Given the description of an element on the screen output the (x, y) to click on. 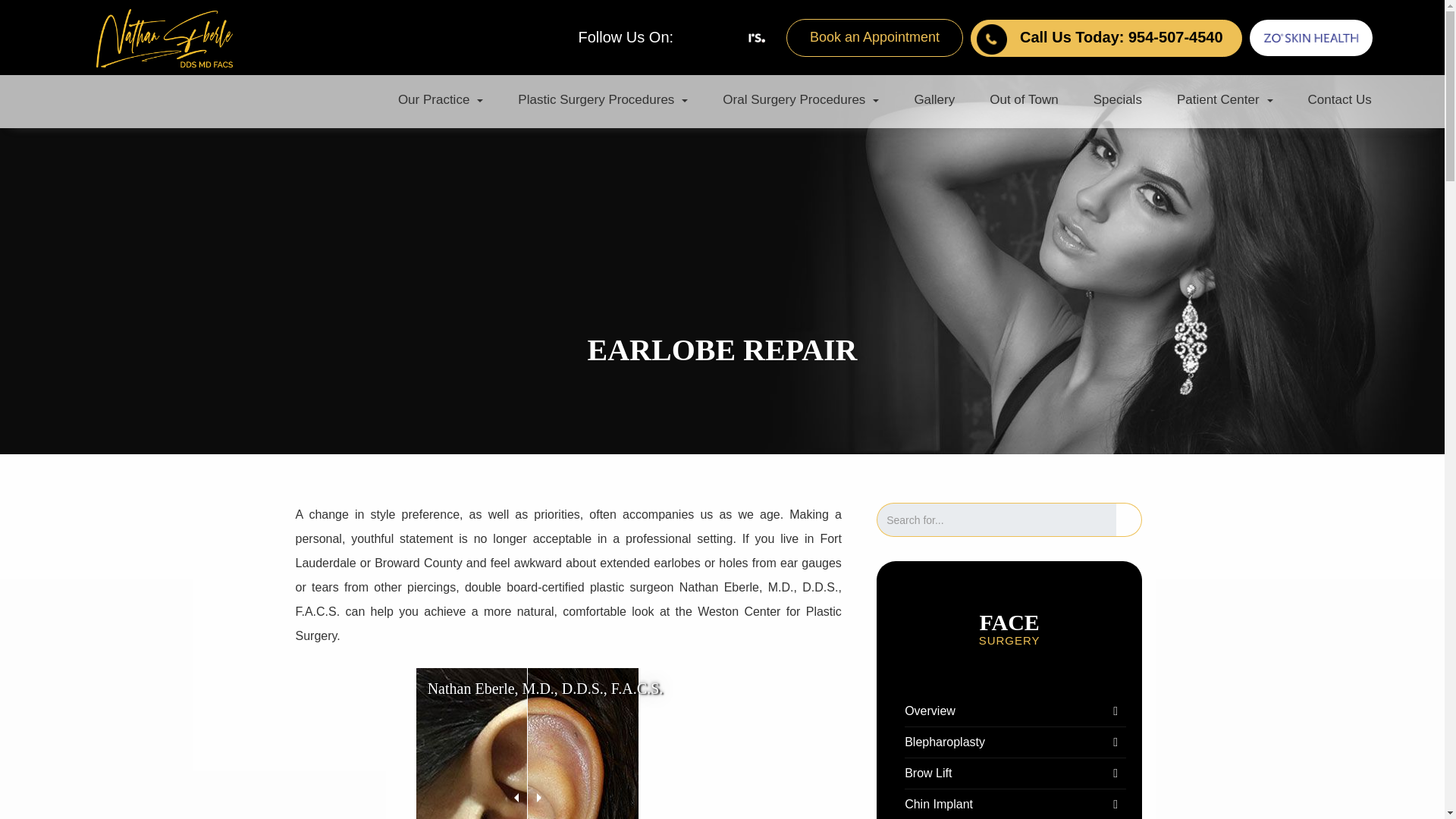
Call: 954-507-4540 (1121, 36)
Book an Appointment (874, 37)
Oral Surgery Procedures (800, 100)
Out of Town (1024, 100)
Our Practice (440, 100)
Gallery (934, 100)
Plastic Surgery Procedures (602, 100)
Call Us Today: 954-507-4540 (1121, 36)
